Given the description of an element on the screen output the (x, y) to click on. 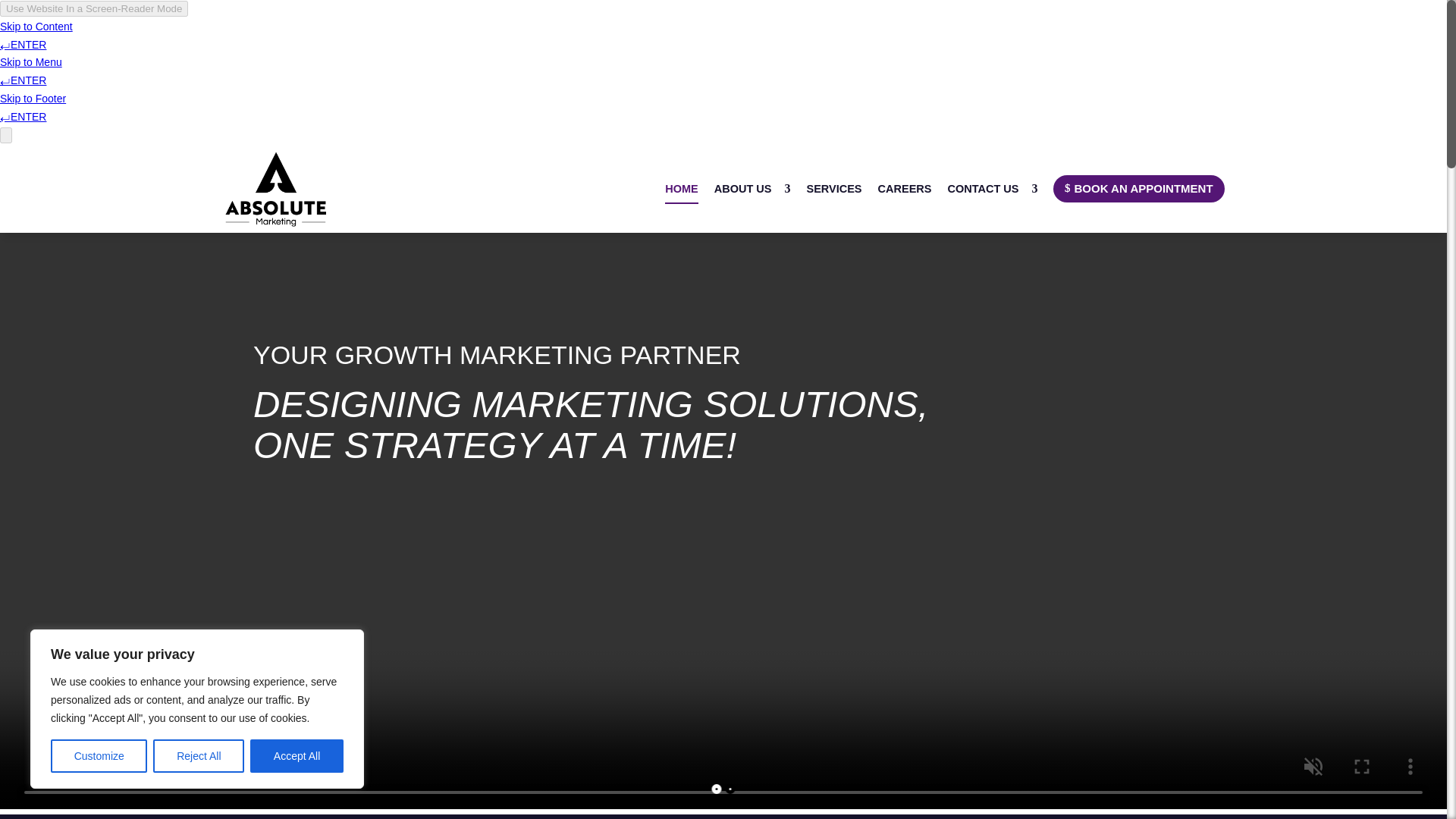
SERVICES (833, 188)
BOOK AN APPOINTMENT (1138, 188)
Accept All (296, 756)
HOME (681, 188)
ABOUT US (752, 188)
Customize (98, 756)
CONTACT US (991, 188)
Reject All (198, 756)
CAREERS (904, 188)
